Given the description of an element on the screen output the (x, y) to click on. 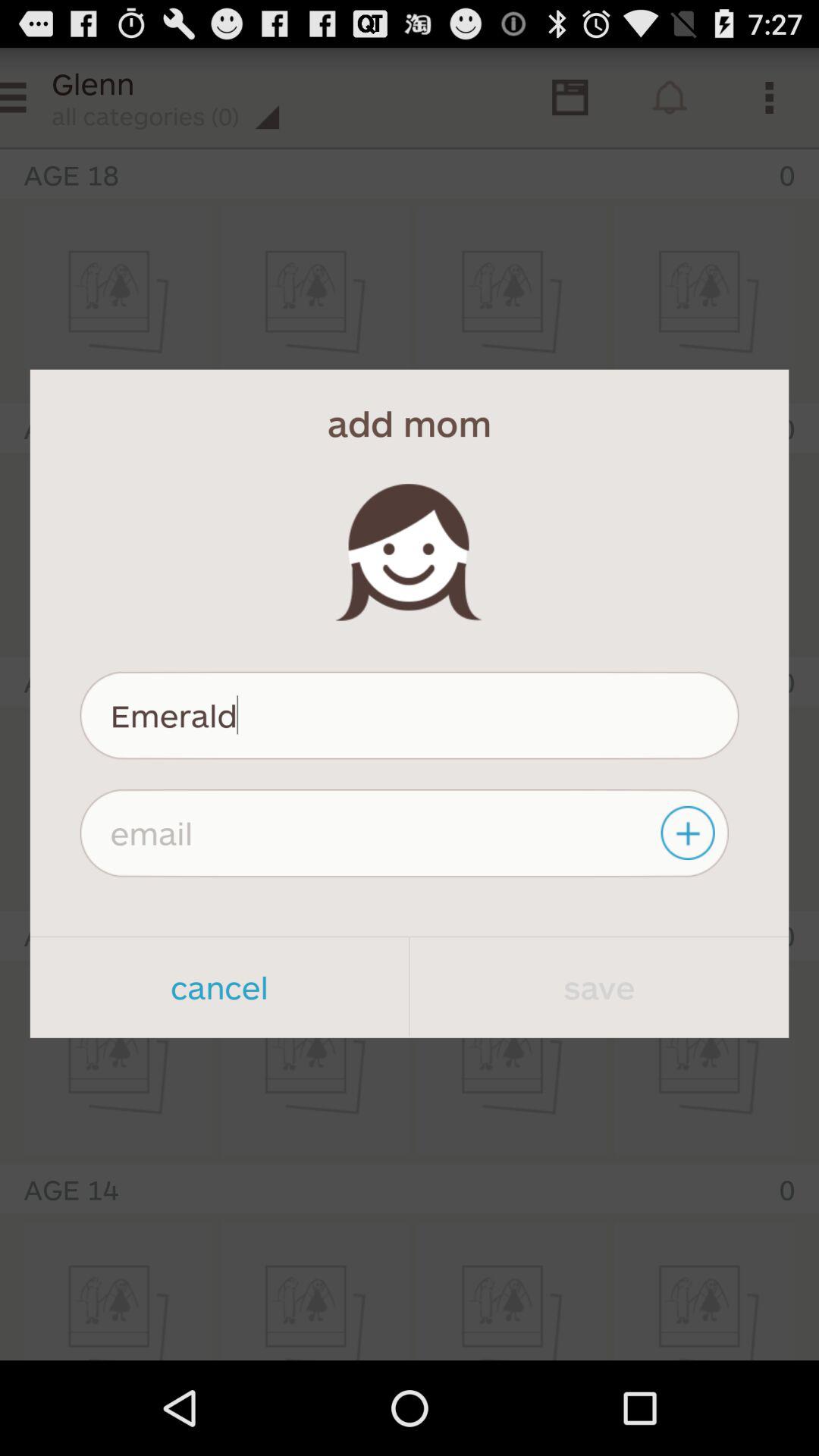
tap the save app (598, 986)
